Given the description of an element on the screen output the (x, y) to click on. 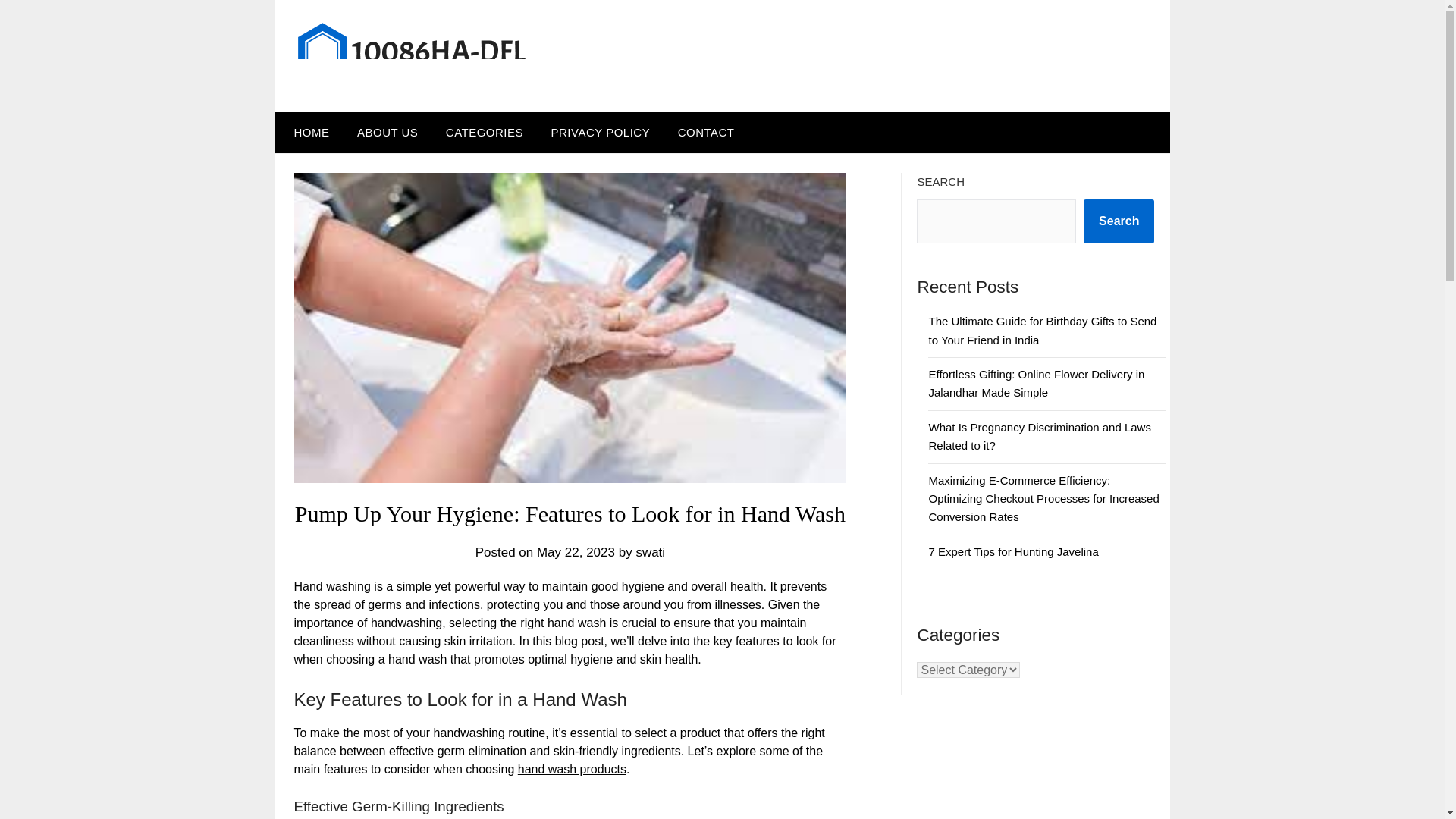
ABOUT US (387, 132)
HOME (307, 132)
PRIVACY POLICY (600, 132)
swati (649, 551)
CONTACT (705, 132)
hand wash products (572, 768)
CATEGORIES (484, 132)
May 22, 2023 (575, 551)
